Given the description of an element on the screen output the (x, y) to click on. 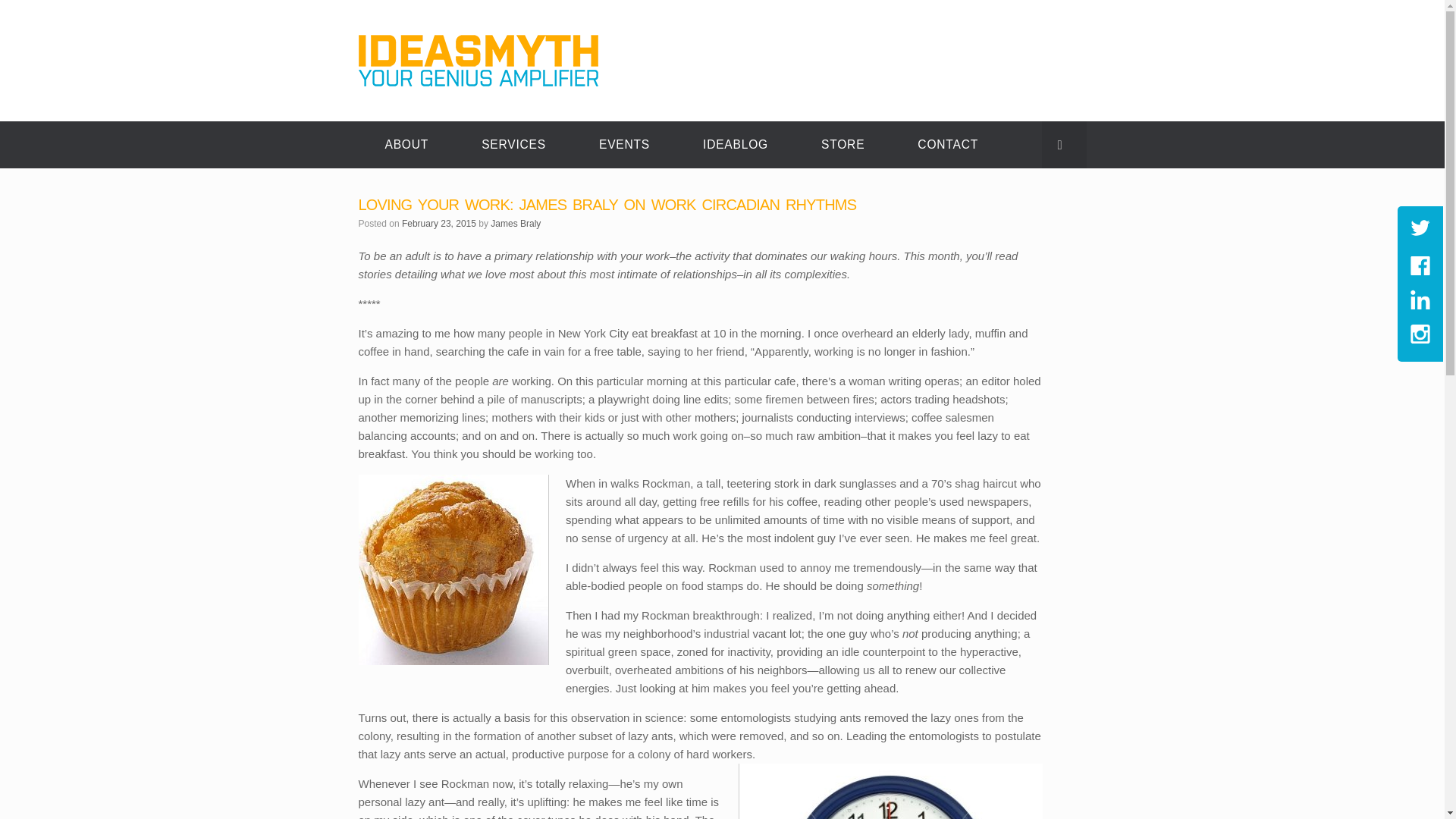
11:00 am (438, 223)
February 23, 2015 (438, 223)
STORE (842, 144)
View all posts by James Braly (515, 223)
EVENTS (624, 144)
ABOUT (406, 144)
Ideasmyth (477, 60)
SERVICES (513, 144)
CONTACT (947, 144)
IDEABLOG (735, 144)
James Braly (515, 223)
